Given the description of an element on the screen output the (x, y) to click on. 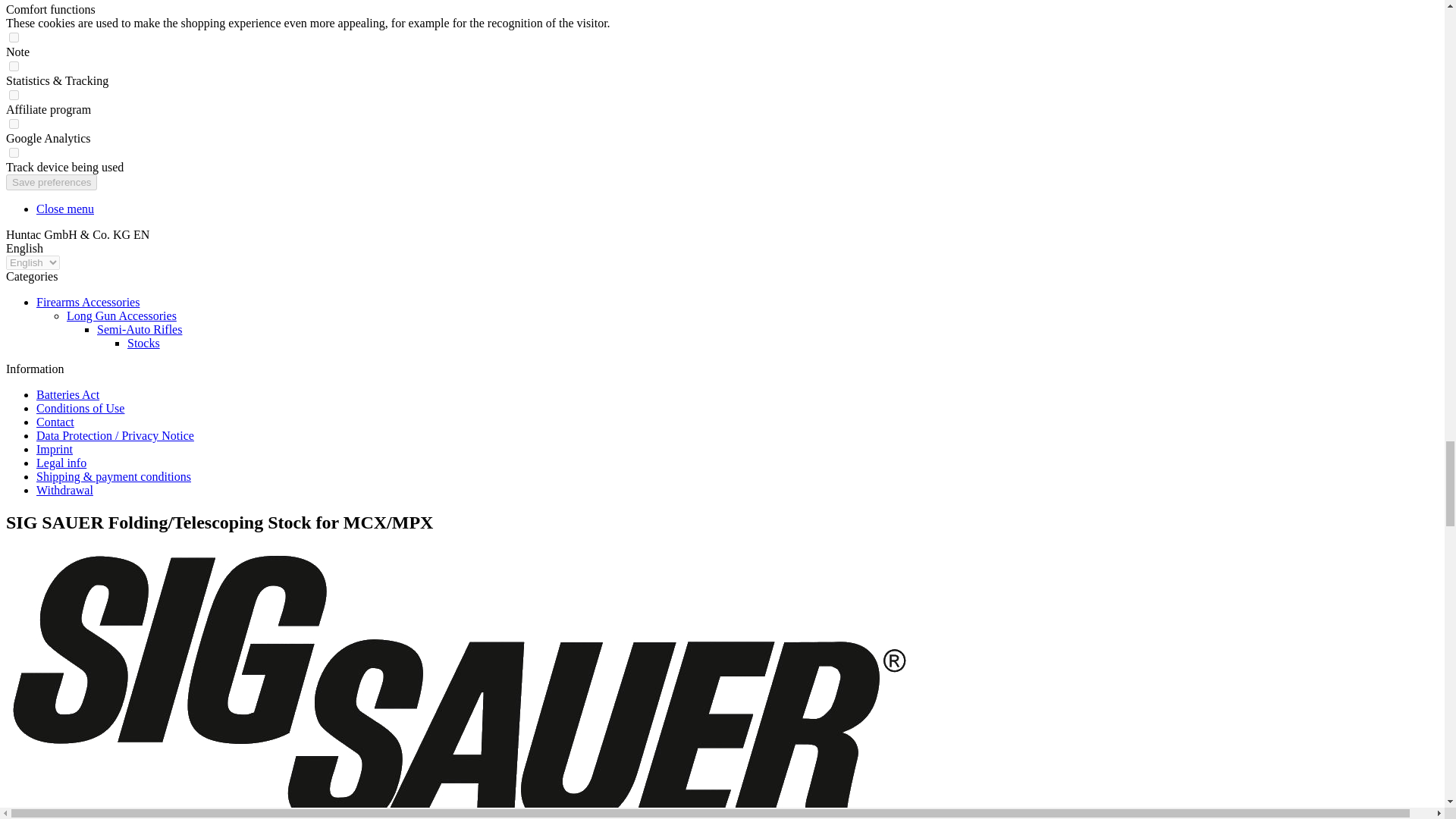
on (13, 66)
on (13, 153)
Save preferences (51, 182)
on (13, 123)
on (13, 37)
on (13, 94)
